Given the description of an element on the screen output the (x, y) to click on. 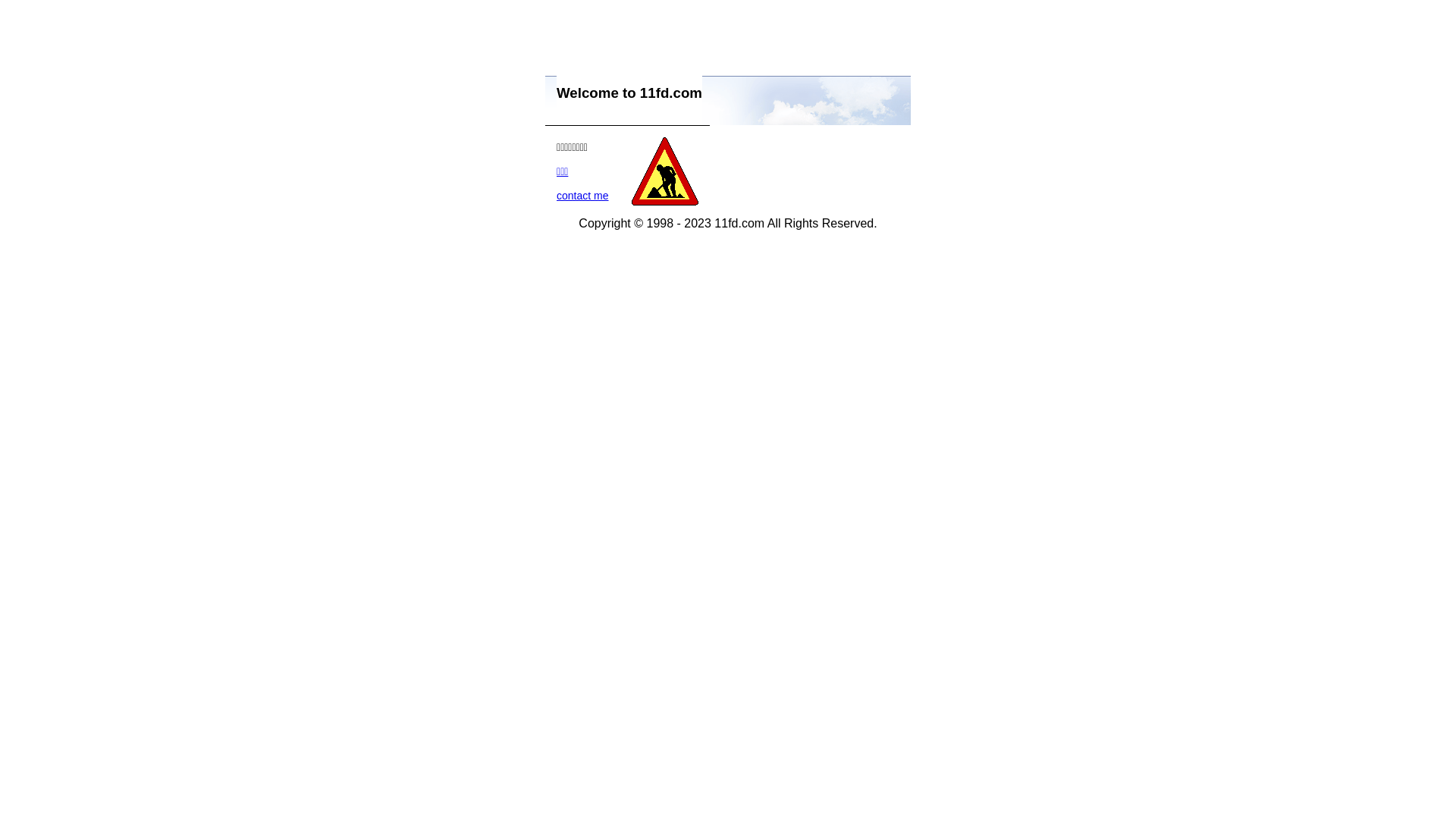
contact me Element type: text (582, 195)
